Given the description of an element on the screen output the (x, y) to click on. 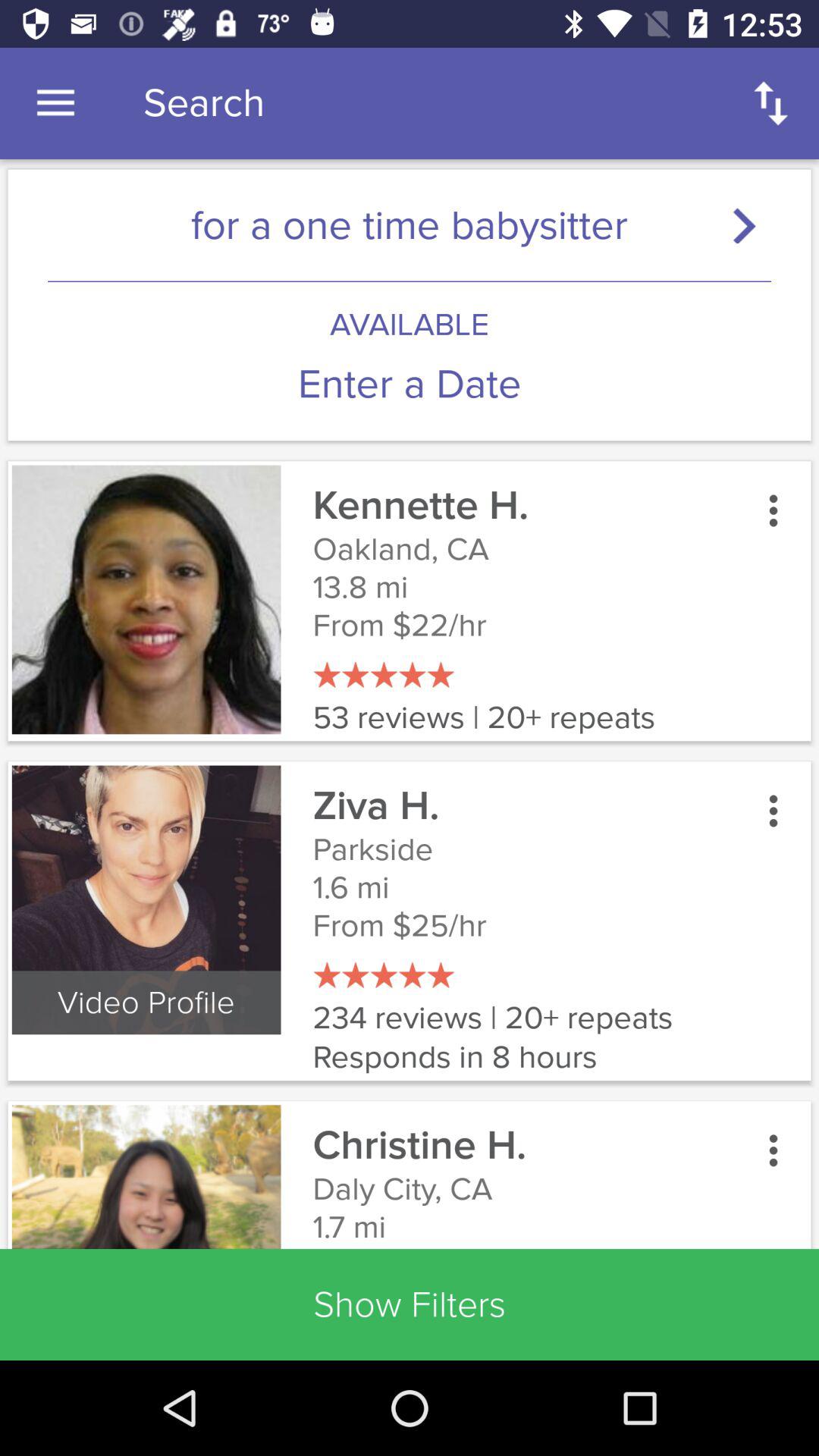
flip until video profile (145, 1002)
